Given the description of an element on the screen output the (x, y) to click on. 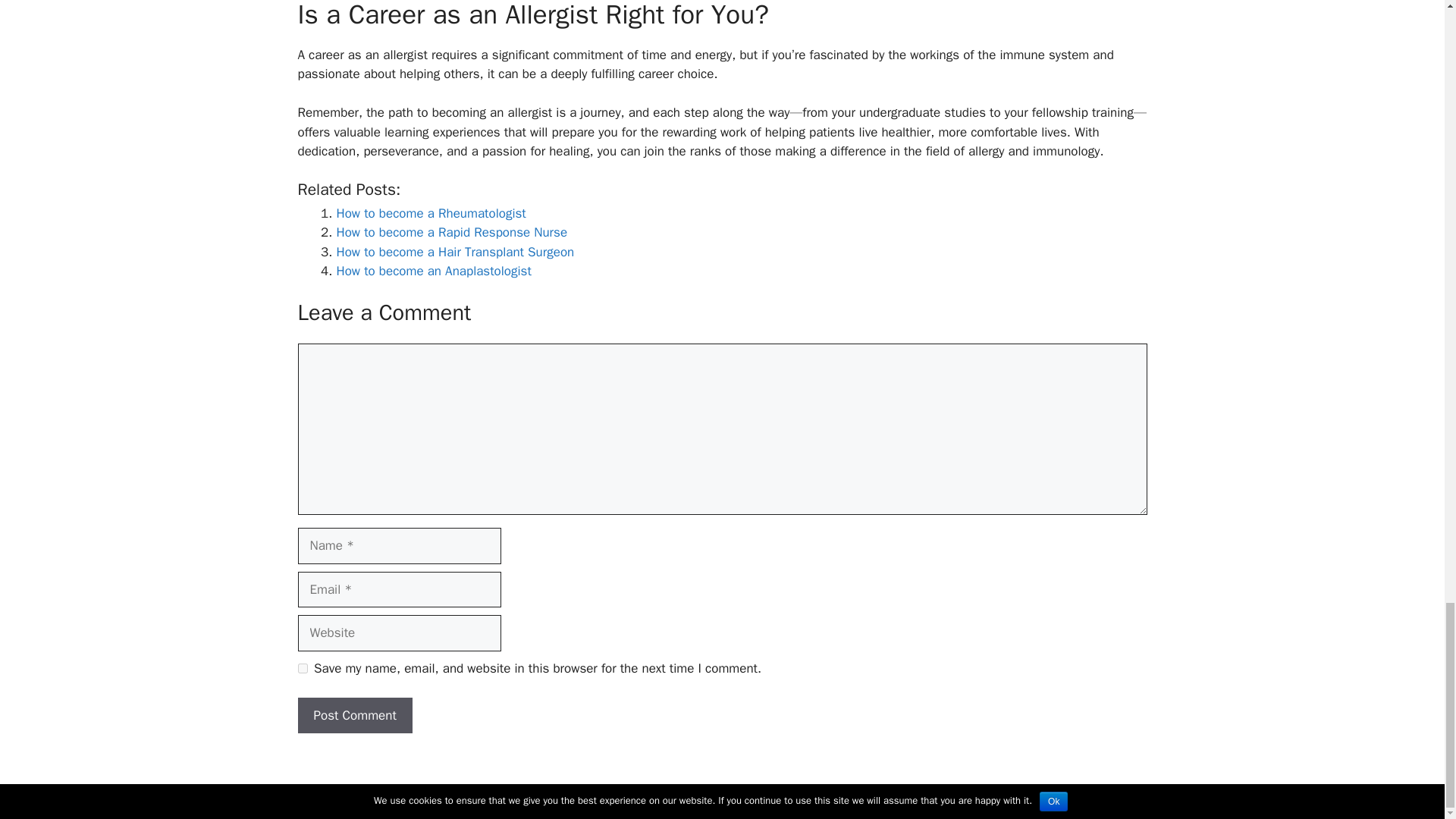
Howbecome.net (645, 794)
How to become an Anaplastologist (433, 270)
yes (302, 668)
Contact (869, 794)
How to become a Rheumatologist (430, 213)
How to become a Hair Transplant Surgeon (455, 252)
Legal notice (728, 794)
How to become a Rheumatologist (430, 213)
Post Comment (354, 715)
Cookies policy (804, 794)
How to become a Rapid Response Nurse (451, 232)
Post Comment (354, 715)
How to become an Anaplastologist (433, 270)
How to become a Rapid Response Nurse (451, 232)
How to become a Hair Transplant Surgeon (455, 252)
